Given the description of an element on the screen output the (x, y) to click on. 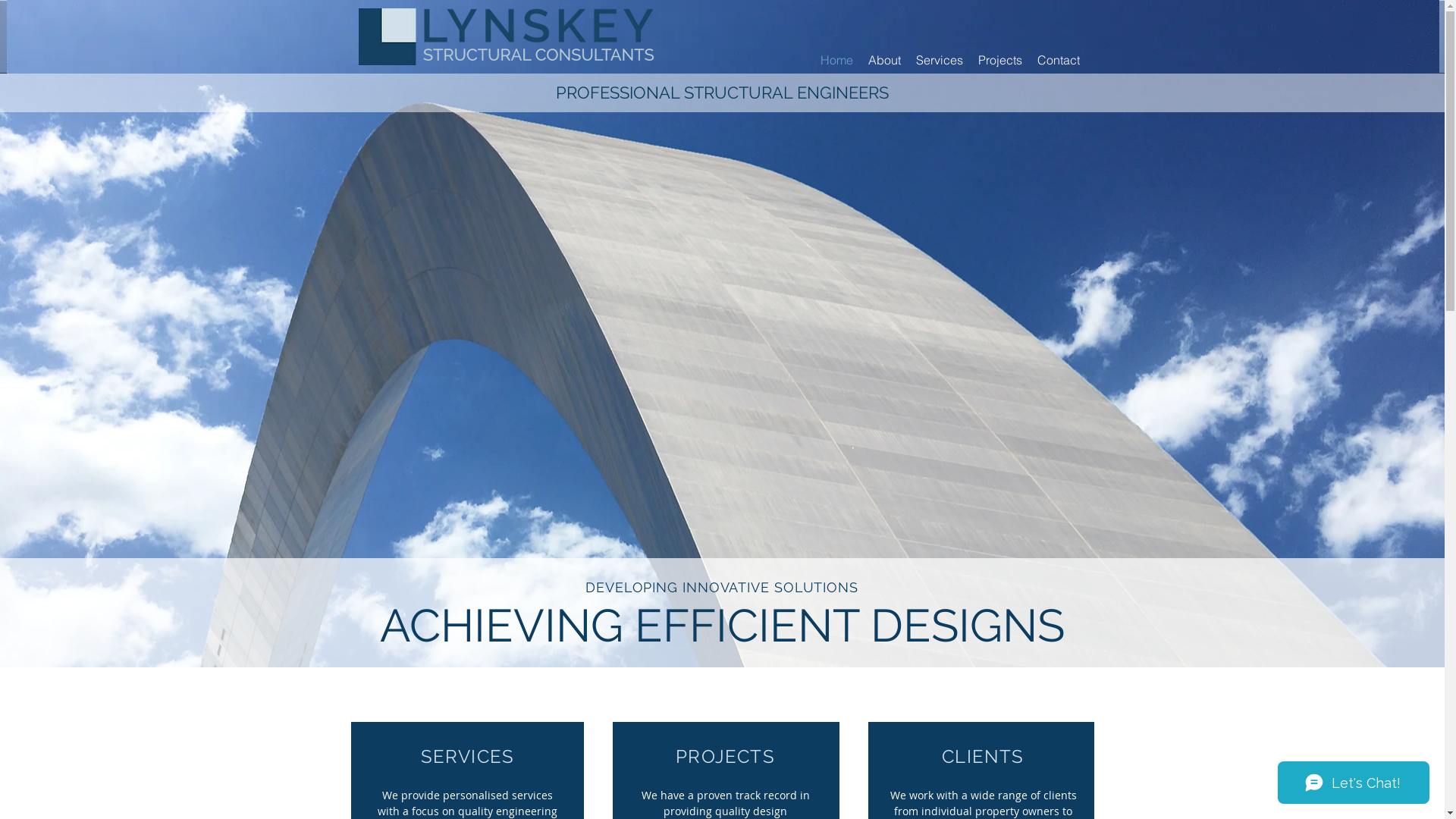
About Element type: text (883, 59)
Home Element type: text (836, 59)
Services Element type: text (939, 59)
header5.jpg Element type: hover (722, 36)
Lynskey Structural Consultants Element type: hover (514, 36)
Projects Element type: text (999, 59)
Contact Element type: text (1058, 59)
